Given the description of an element on the screen output the (x, y) to click on. 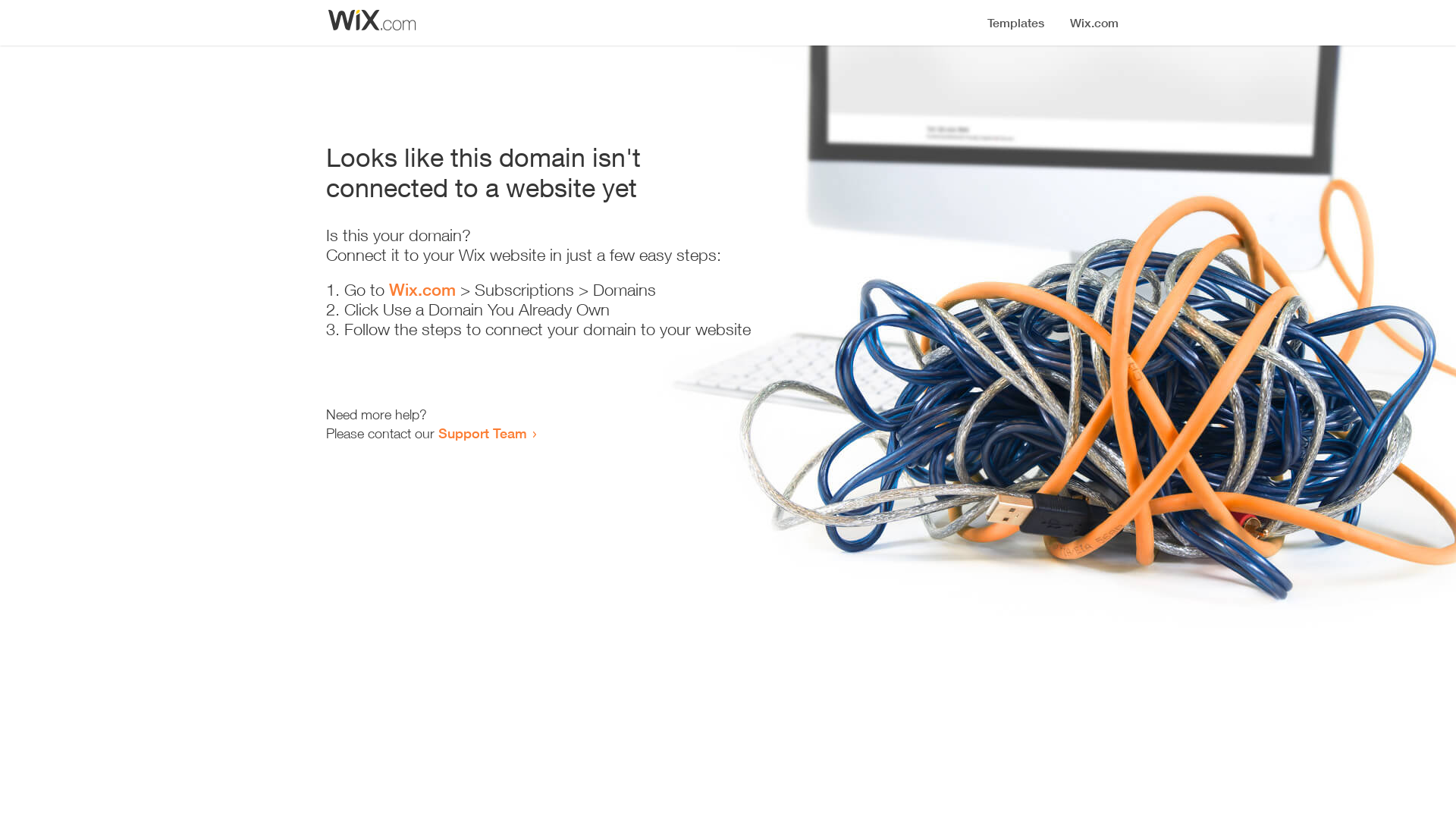
Wix.com Element type: text (422, 289)
Support Team Element type: text (482, 432)
